Given the description of an element on the screen output the (x, y) to click on. 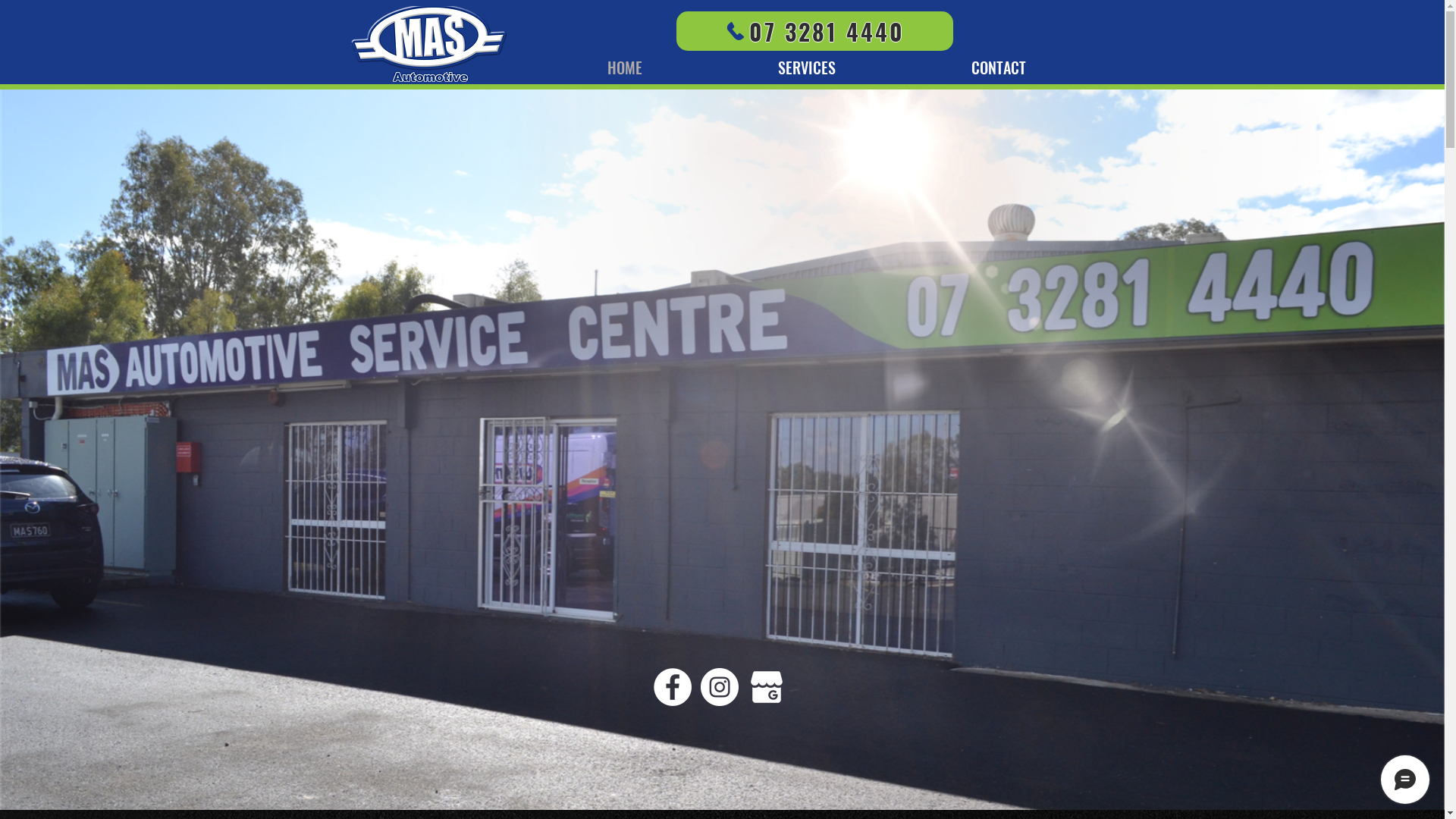
HOME Element type: text (624, 65)
CONTACT Element type: text (998, 65)
SERVICES Element type: text (806, 65)
07 3281 4440 Element type: text (814, 30)
